Given the description of an element on the screen output the (x, y) to click on. 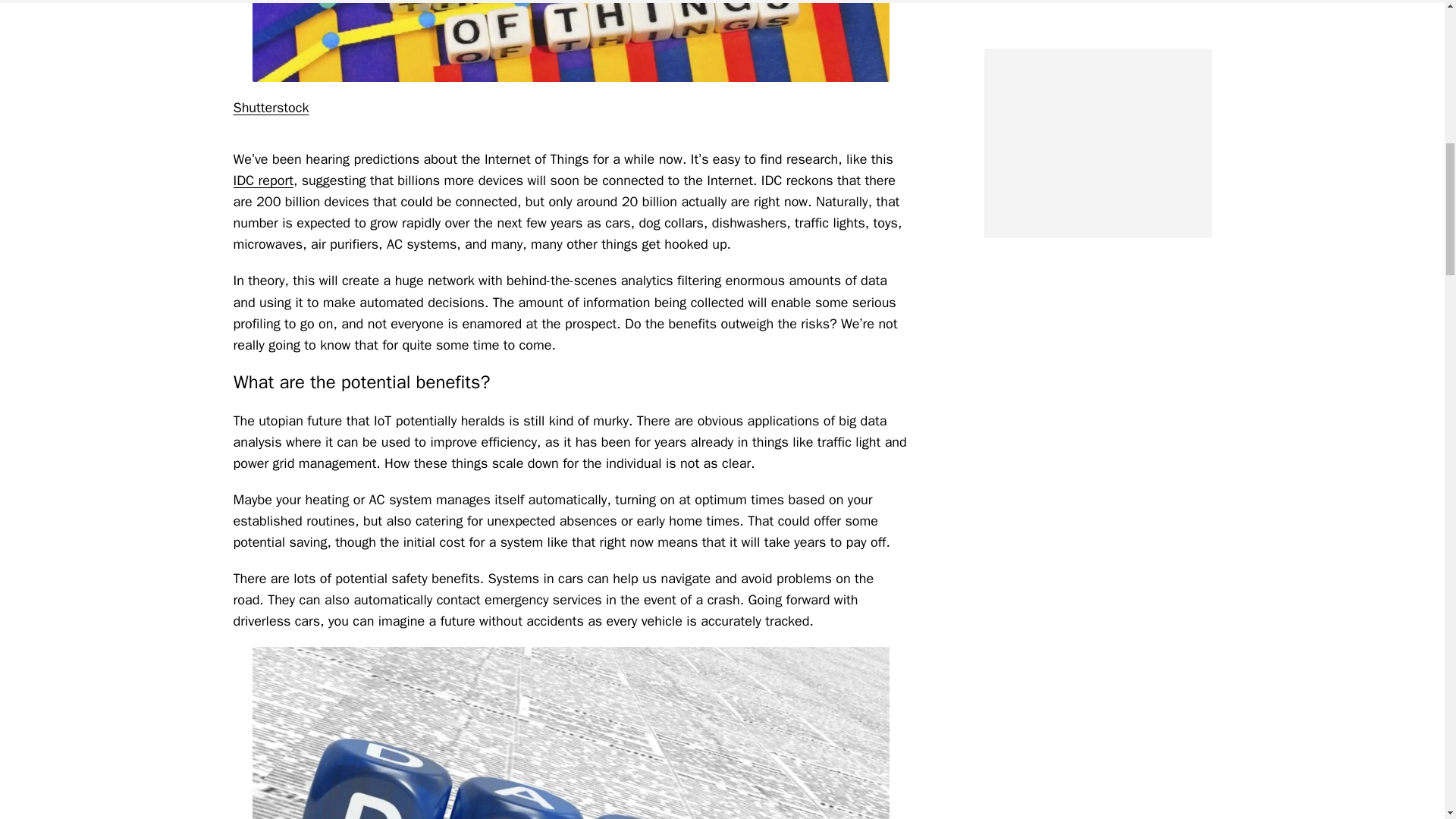
IDC report (263, 180)
data (569, 733)
Shutterstock (270, 107)
internet of things (569, 40)
